Given the description of an element on the screen output the (x, y) to click on. 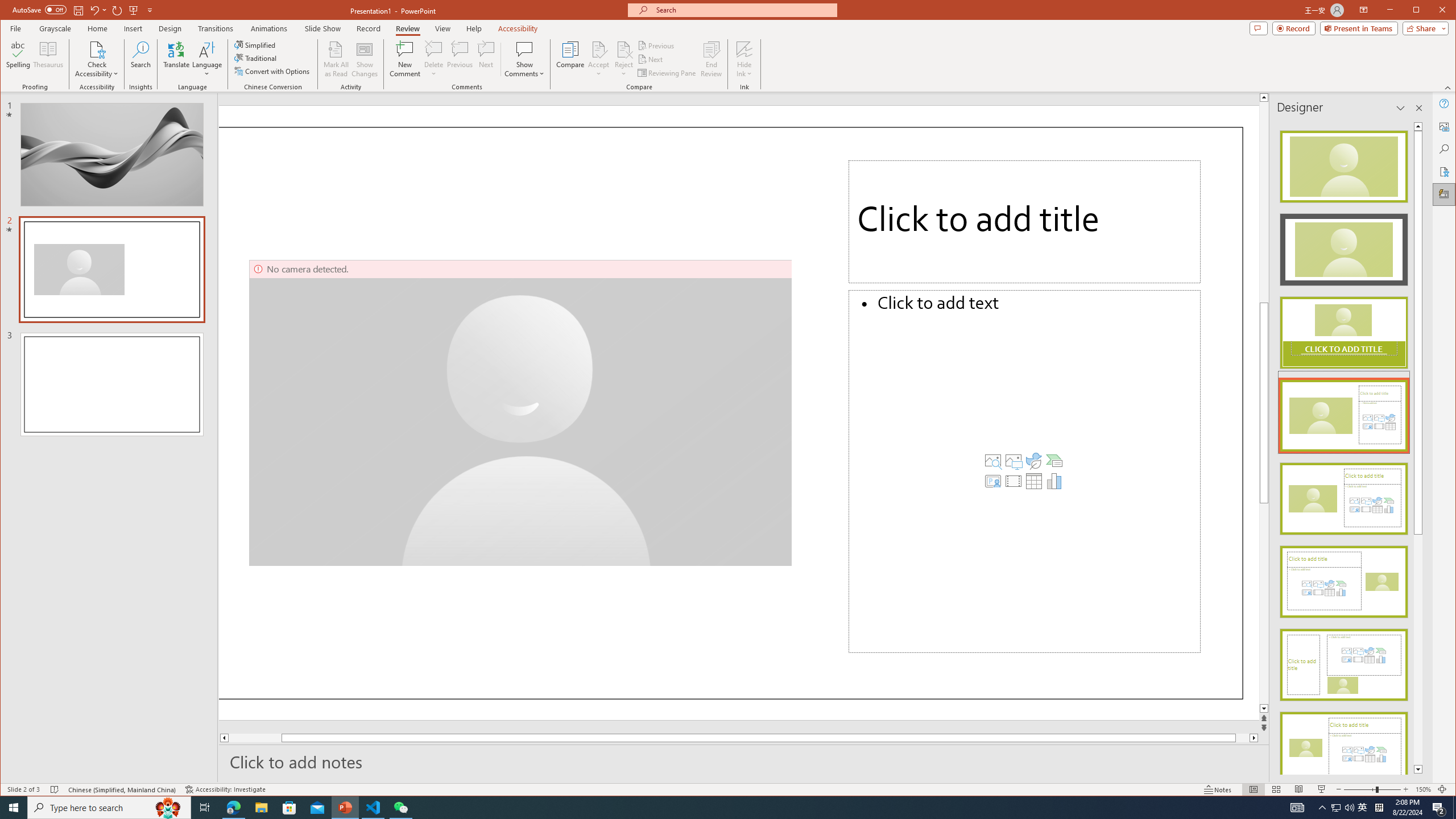
WeChat - 1 running window (400, 807)
Reject Change (623, 48)
Insert an Icon (1033, 460)
